Given the description of an element on the screen output the (x, y) to click on. 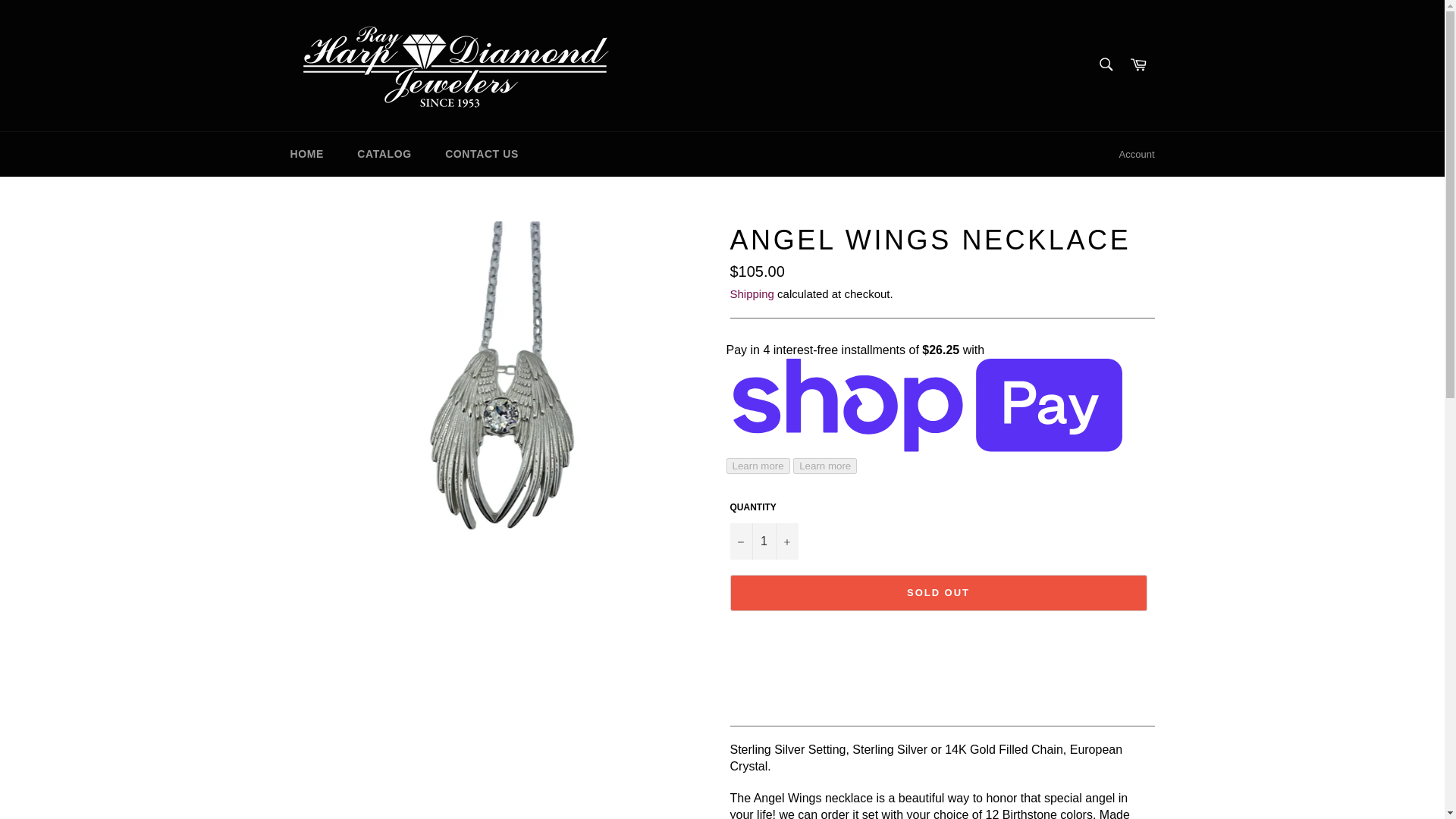
CONTACT US (481, 153)
Search (1104, 64)
CATALOG (384, 153)
HOME (306, 153)
SOLD OUT (938, 592)
Cart (1138, 65)
Account (1136, 154)
1 (763, 541)
Shipping (751, 293)
